Given the description of an element on the screen output the (x, y) to click on. 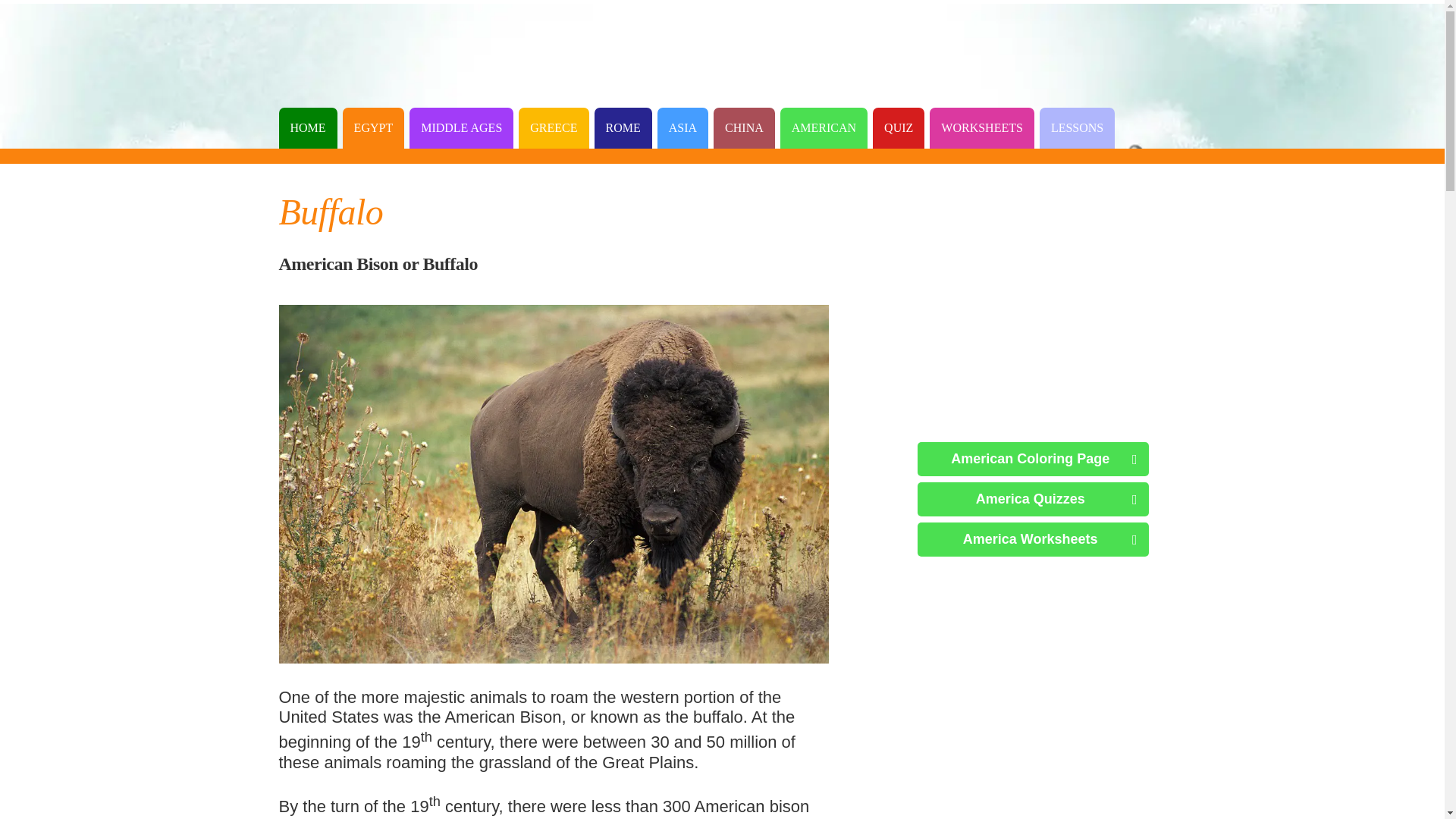
AMERICAN (823, 127)
America Worksheets (1032, 539)
American Coloring Page (1032, 458)
ASIA (682, 127)
CHINA (743, 127)
HOME (308, 127)
GREECE (553, 127)
LESSONS (1077, 127)
EGYPT (373, 127)
